Given the description of an element on the screen output the (x, y) to click on. 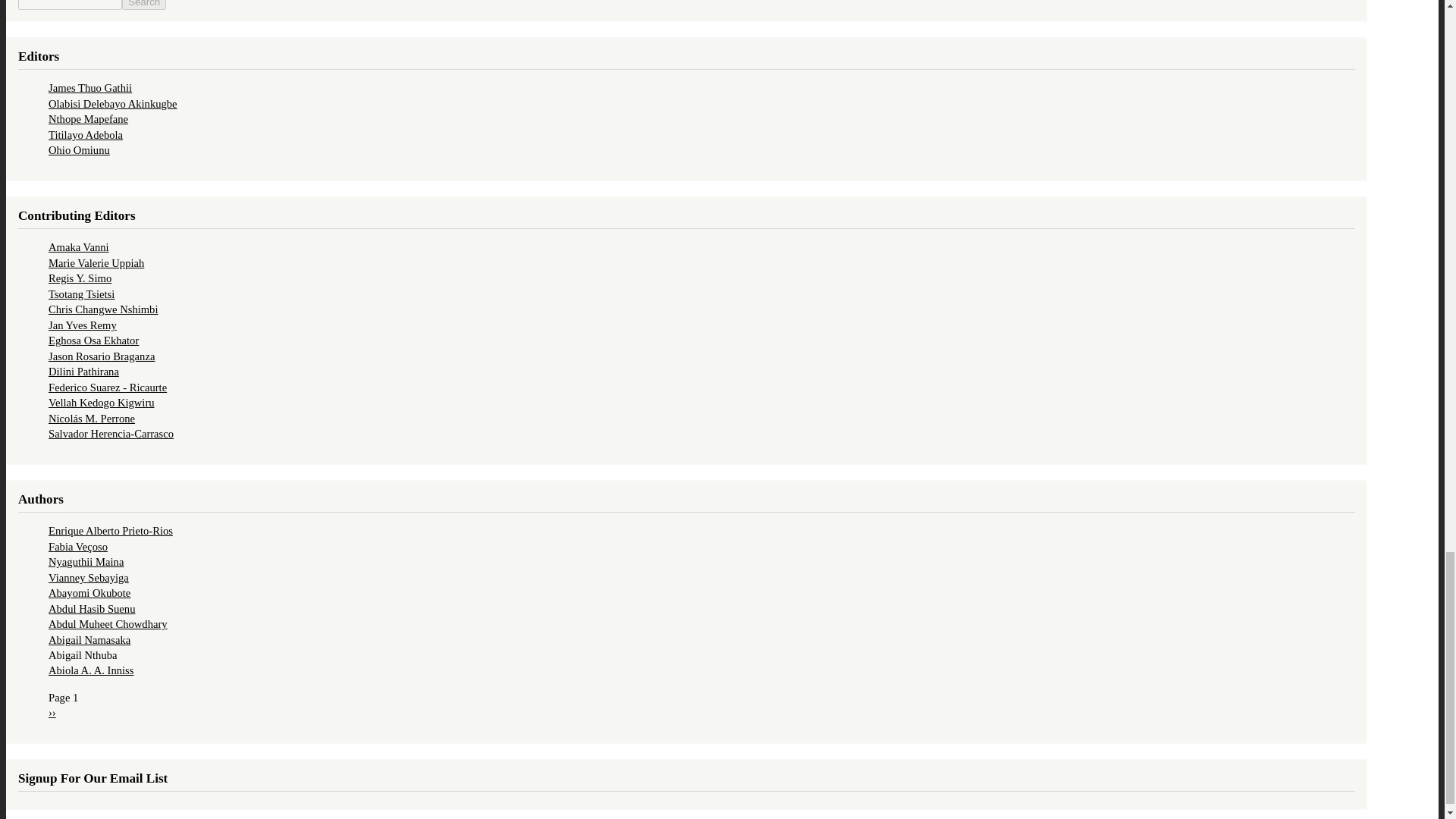
Enter the terms you wish to search for. (69, 4)
